Given the description of an element on the screen output the (x, y) to click on. 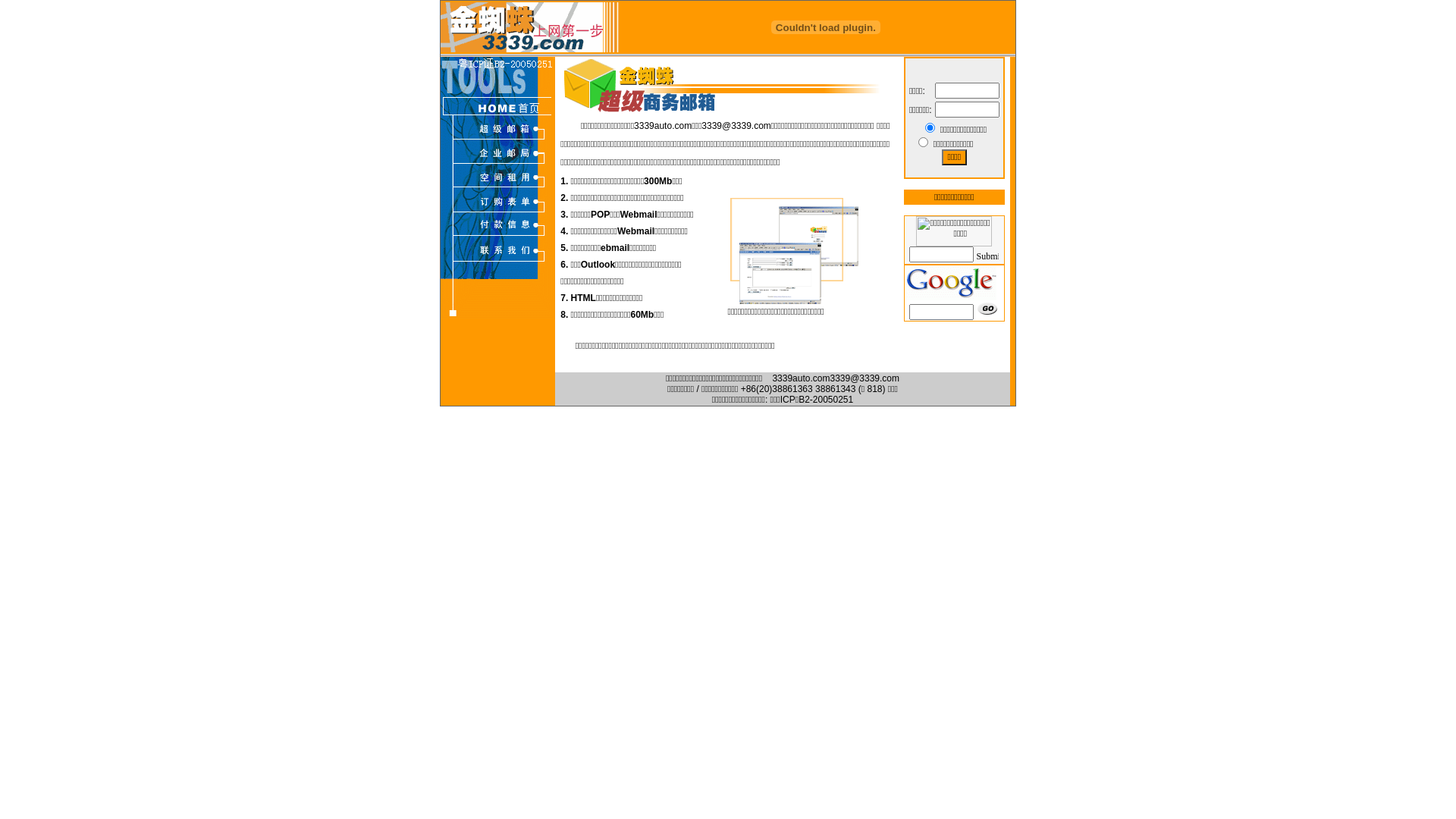
mail Element type: text (930, 127)
3339@3339.com Element type: text (864, 378)
manage Element type: text (923, 142)
